Given the description of an element on the screen output the (x, y) to click on. 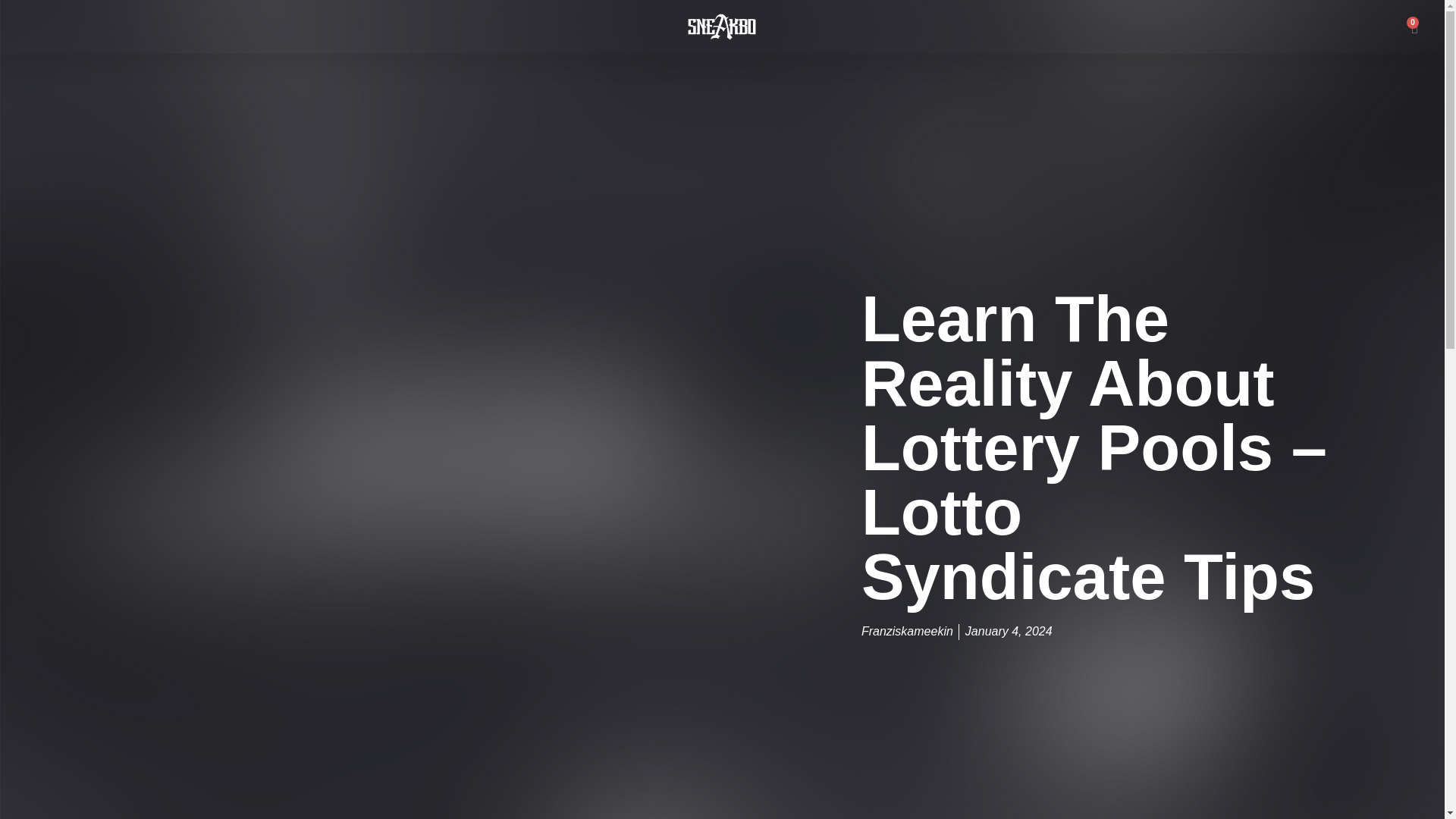
0 (1415, 26)
